Given the description of an element on the screen output the (x, y) to click on. 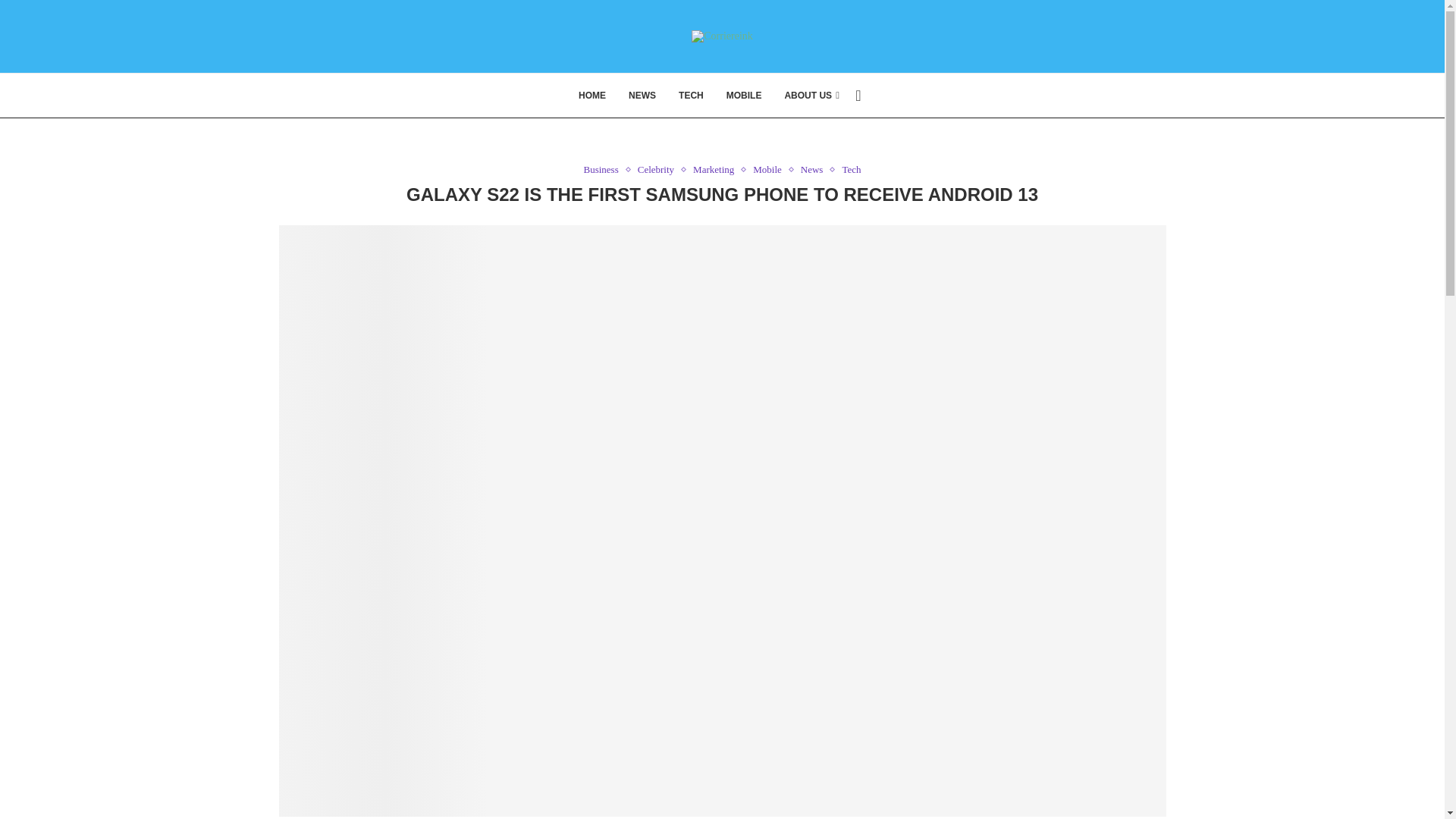
Marketing (717, 169)
Business (604, 169)
Mobile (770, 169)
Celebrity (659, 169)
News (815, 169)
ABOUT US (811, 95)
Tech (850, 169)
